Given the description of an element on the screen output the (x, y) to click on. 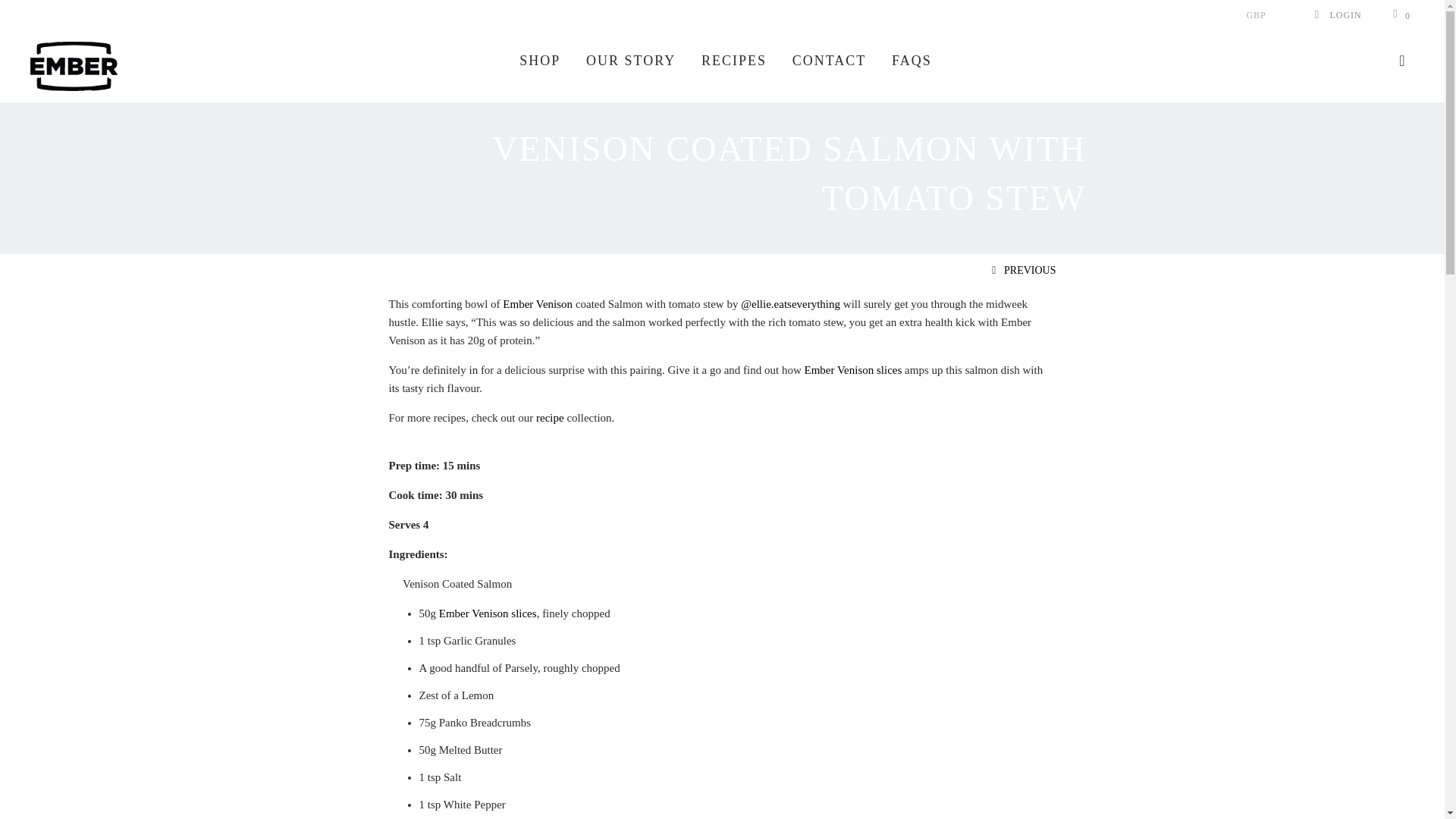
LOGIN (1336, 15)
Ember Snacks (130, 66)
PREVIOUS (1022, 270)
FAQS (911, 60)
SHOP (539, 60)
Ember Venison slices (852, 369)
My Account  (1336, 15)
RECIPES (734, 60)
recipe (549, 417)
Ember Venison (537, 304)
